Given the description of an element on the screen output the (x, y) to click on. 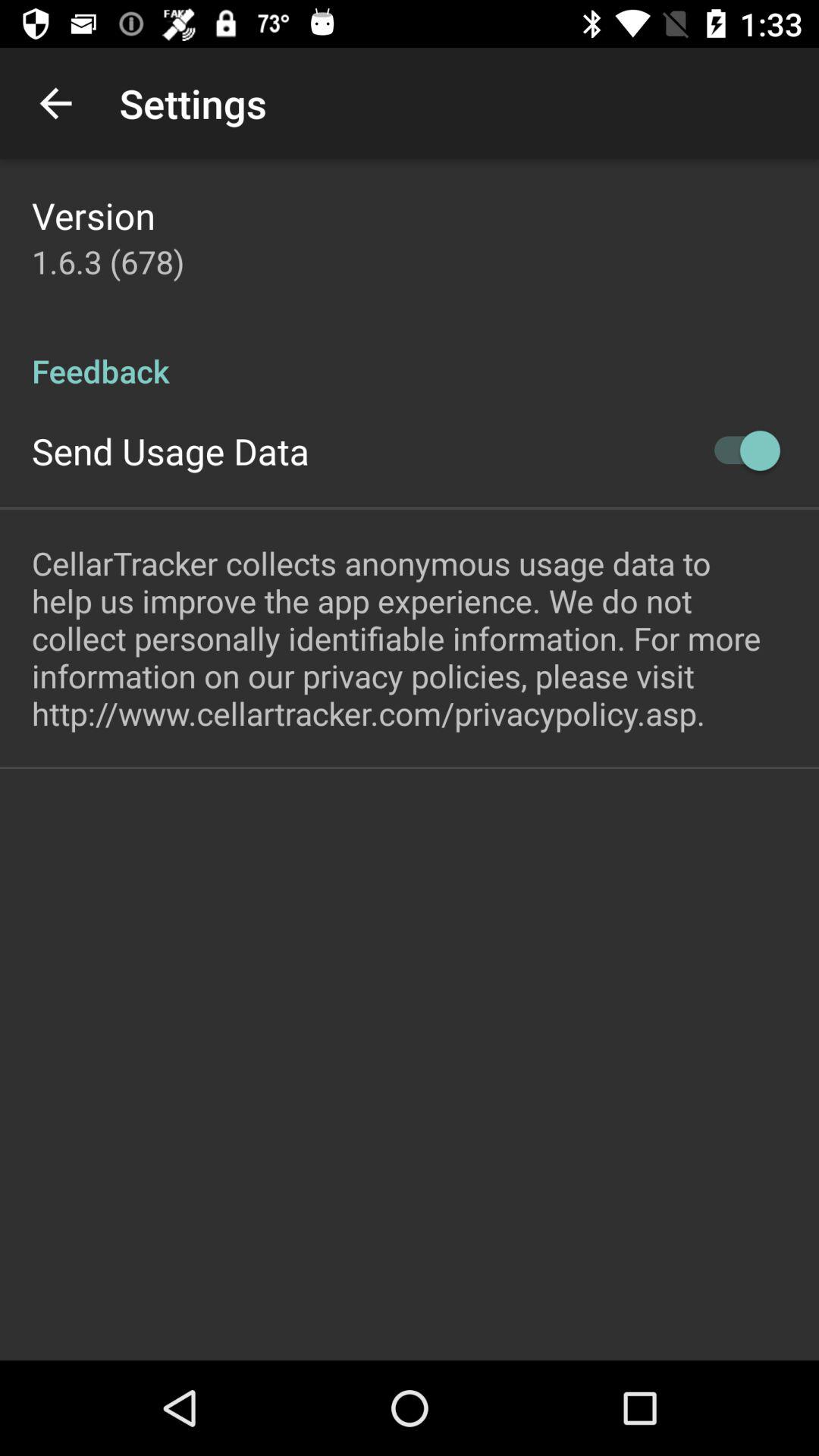
click cellartracker collects anonymous icon (409, 637)
